Given the description of an element on the screen output the (x, y) to click on. 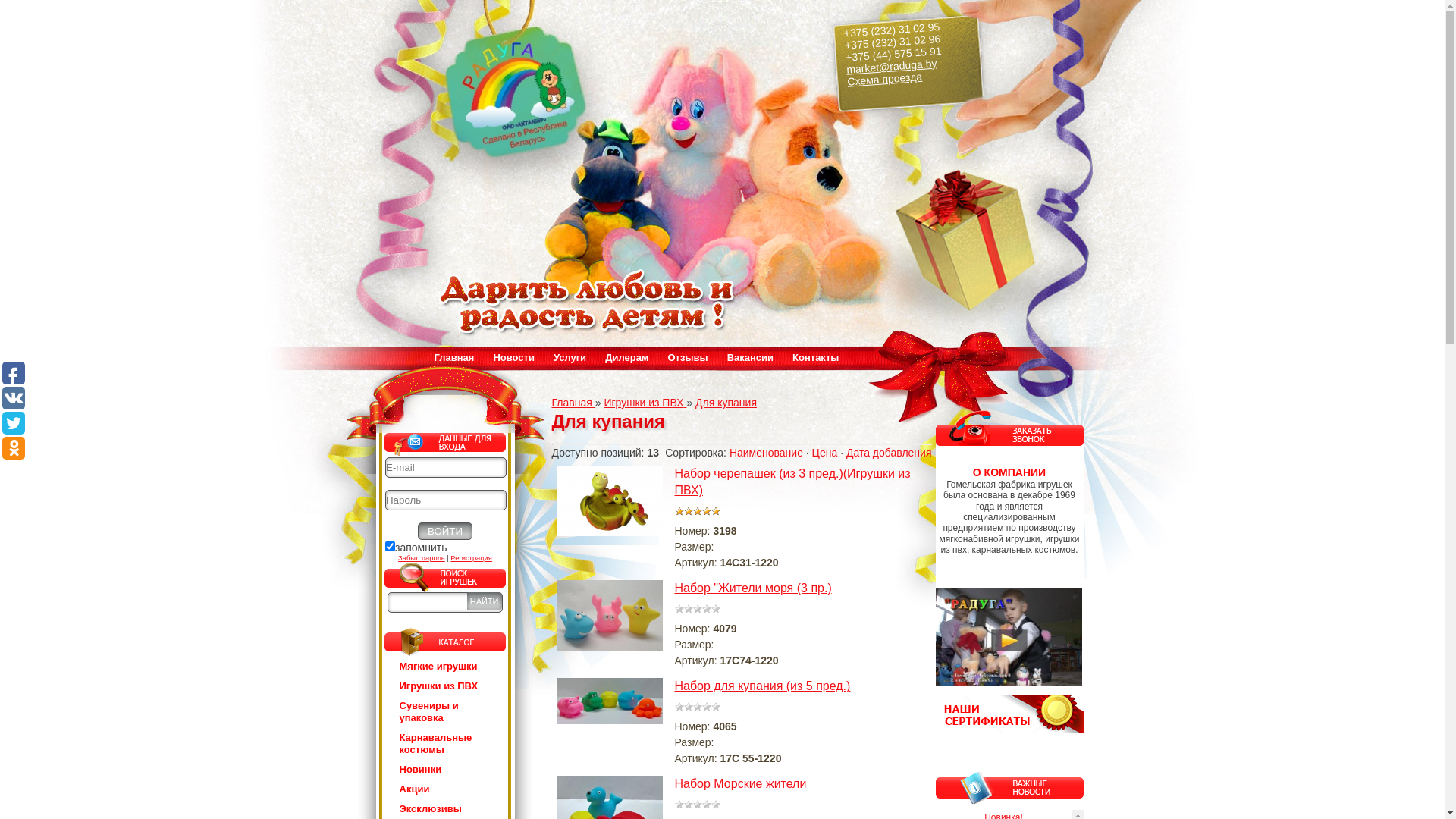
market@raduga.by Element type: text (890, 62)
